Given the description of an element on the screen output the (x, y) to click on. 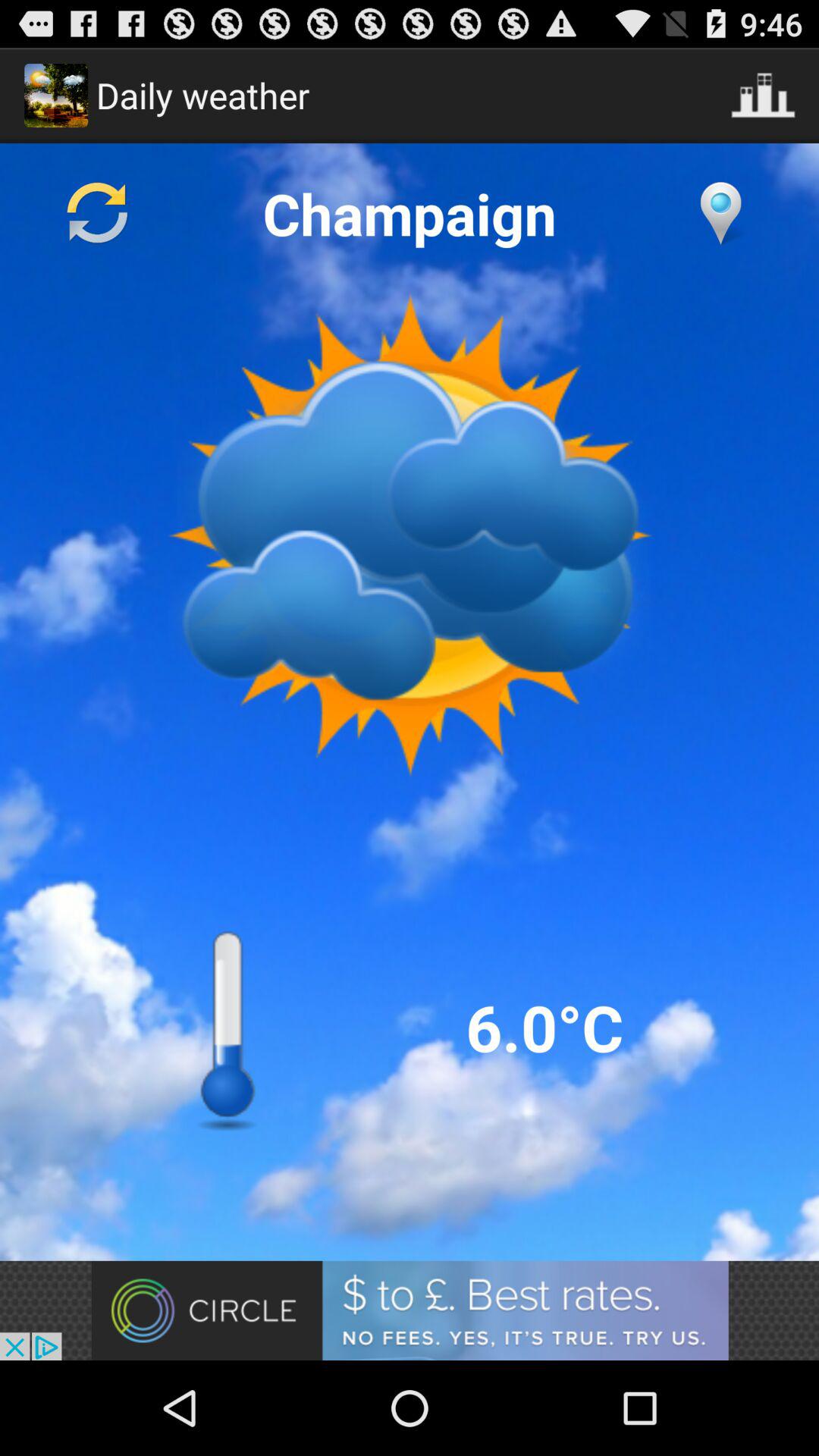
go to advertisement link (409, 1310)
